Given the description of an element on the screen output the (x, y) to click on. 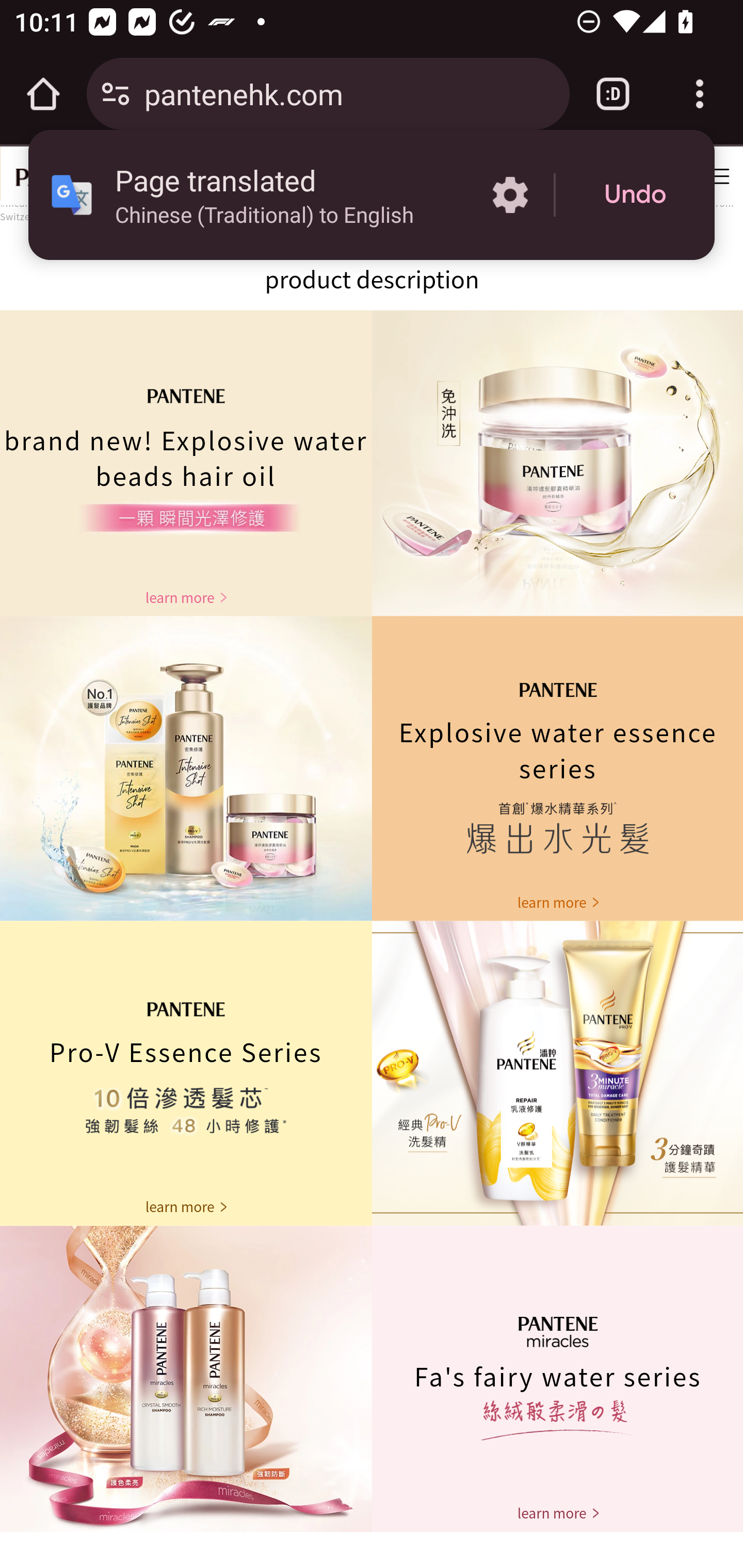
Open the home page (43, 93)
Connection is secure (115, 93)
Switch or close tabs (612, 93)
Customize and control Google Chrome (699, 93)
pantenehk.com (349, 92)
Undo (634, 195)
More options in the Page translated (509, 195)
learn more (186, 597)
learn more (557, 901)
learn more (186, 1207)
learn more (557, 1513)
